Given the description of an element on the screen output the (x, y) to click on. 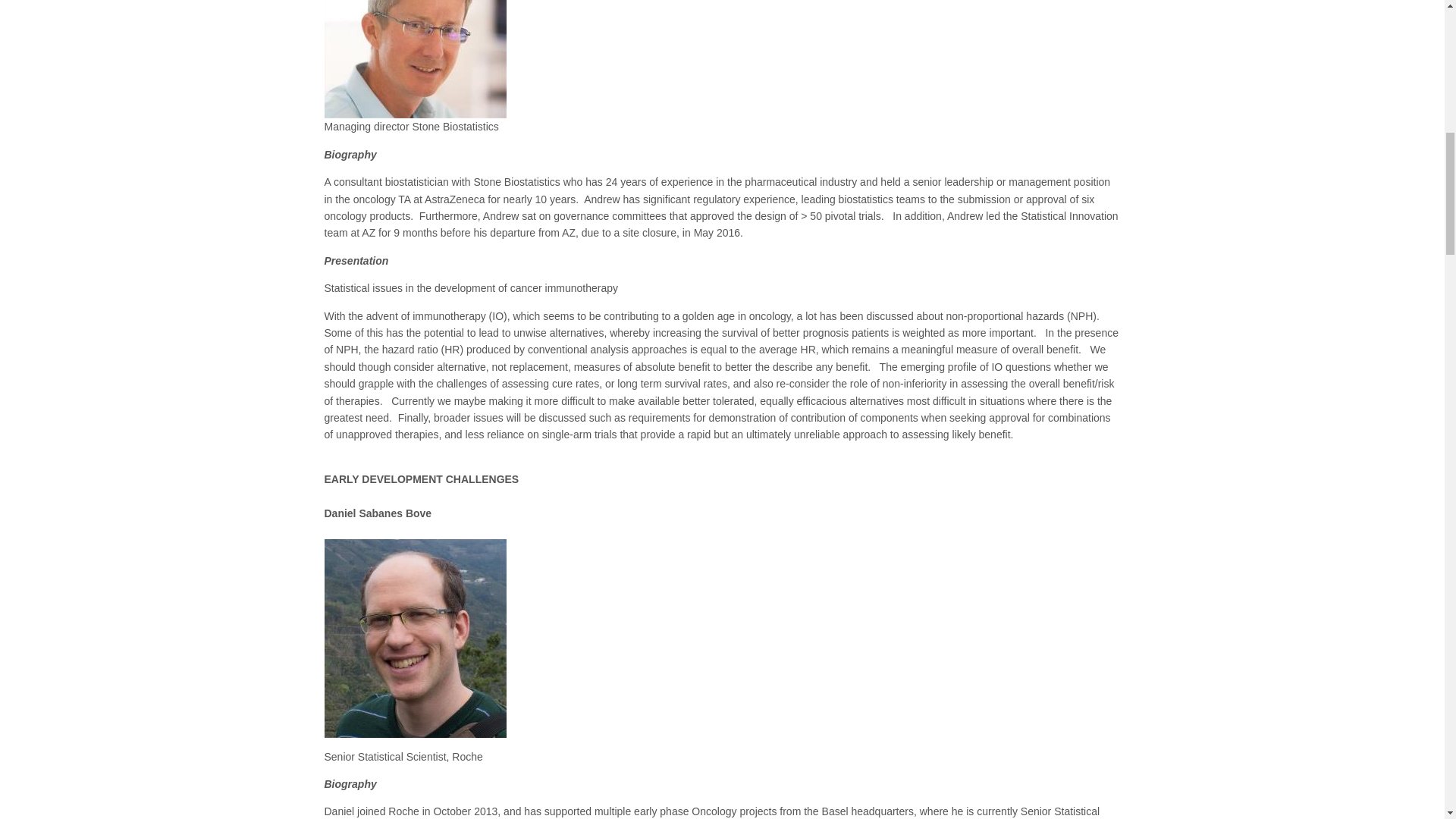
Daniel Sabanes Bove (415, 637)
Andrew Stone (415, 58)
